Given the description of an element on the screen output the (x, y) to click on. 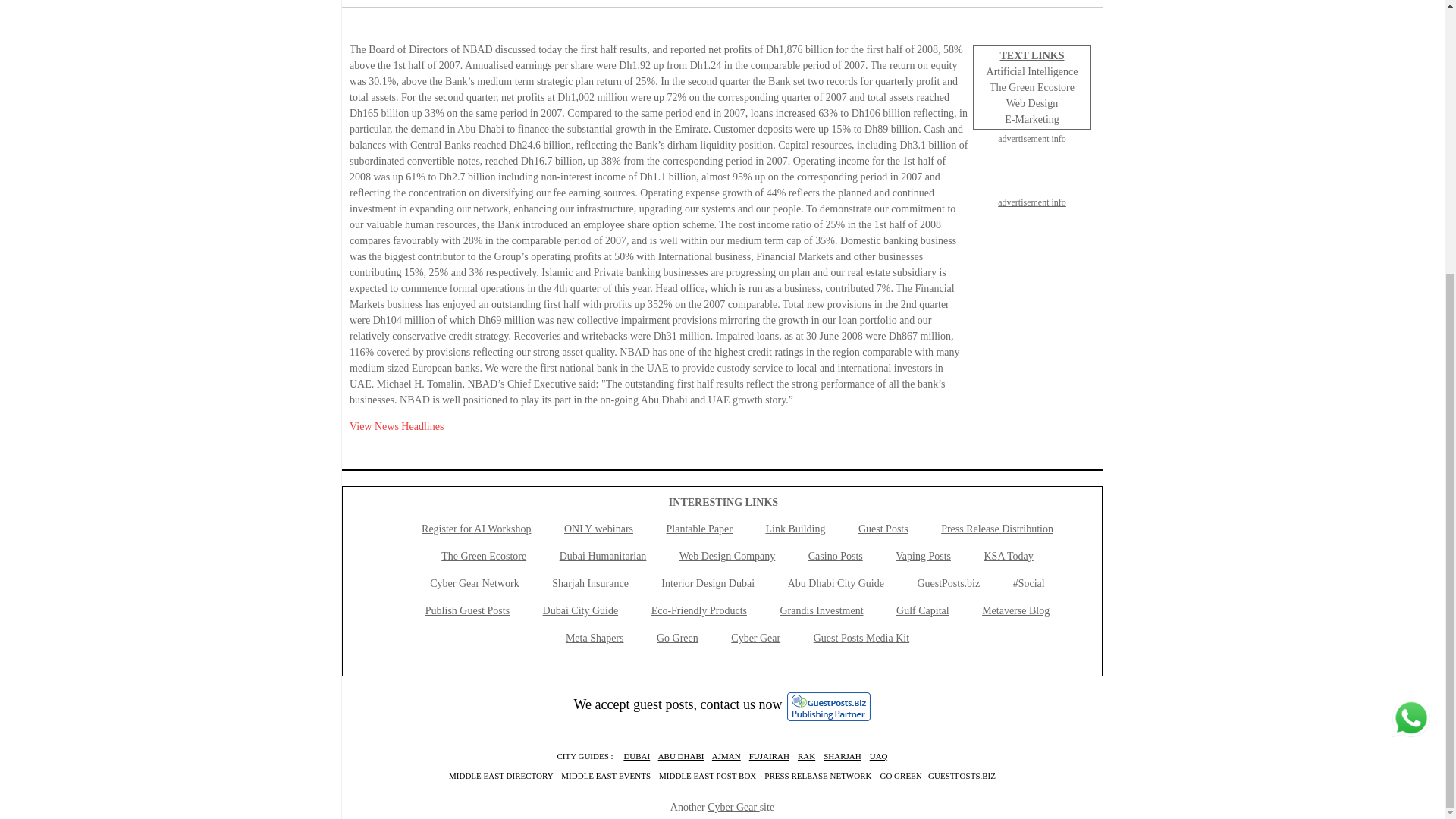
Ajman (726, 755)
Abu Dhabi (681, 755)
Sharjah (842, 755)
Middle East Events (605, 775)
Advertisement (1032, 308)
advertisement info (1031, 138)
Interior Design Dubai (707, 583)
Dubai City Guide (580, 610)
Abu Dhabi (636, 755)
Dubai Humanitarian (602, 555)
ONLY webinars (598, 528)
Publish Guest Posts (467, 610)
GuestPosts.biz (948, 583)
Web Design Company (726, 555)
Artificial Intelligence (1032, 71)
